Given the description of an element on the screen output the (x, y) to click on. 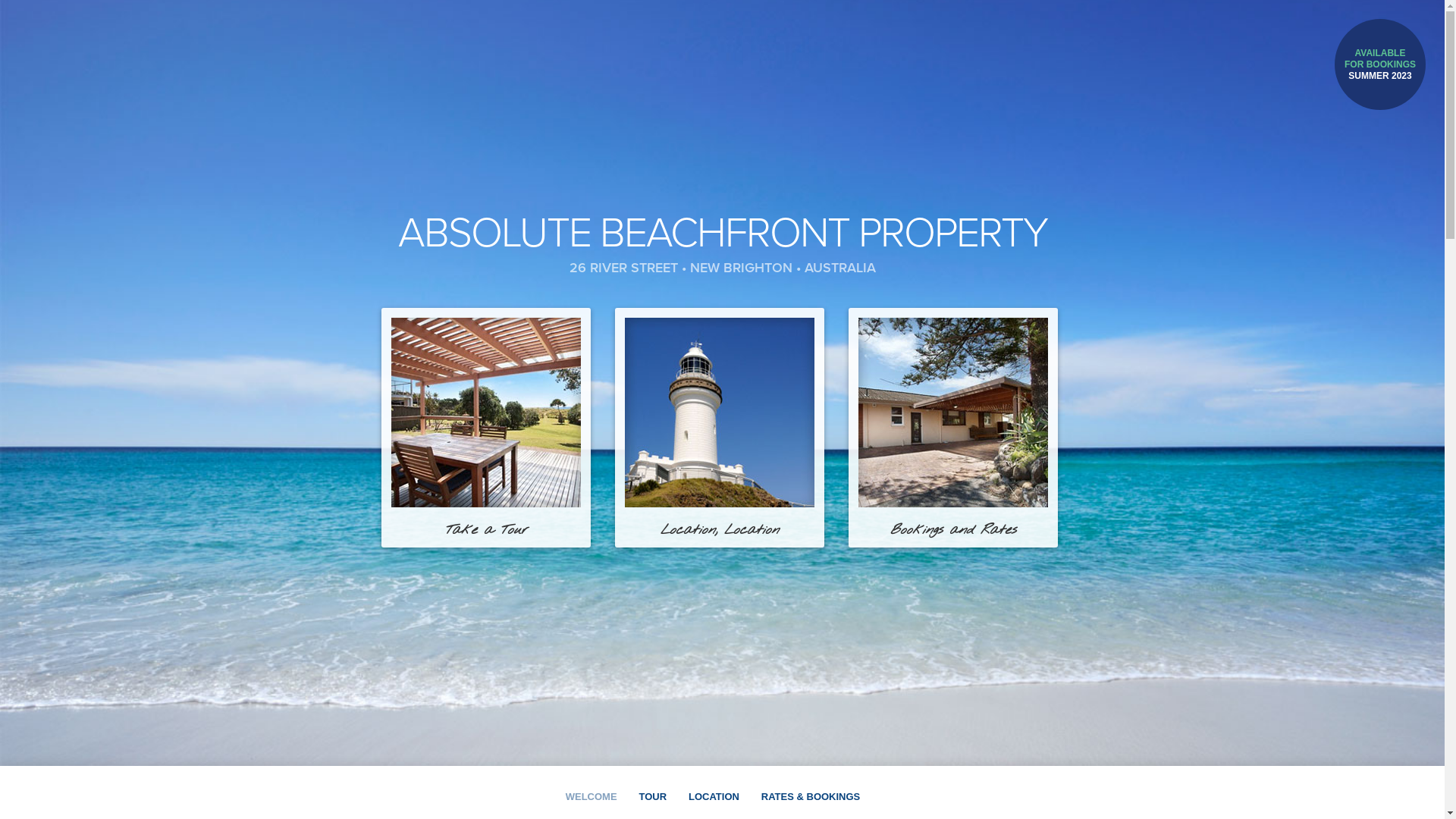
TOUR Element type: text (652, 796)
LOCATION Element type: text (713, 796)
WELCOME Element type: text (591, 796)
RATES & BOOKINGS Element type: text (810, 796)
